Given the description of an element on the screen output the (x, y) to click on. 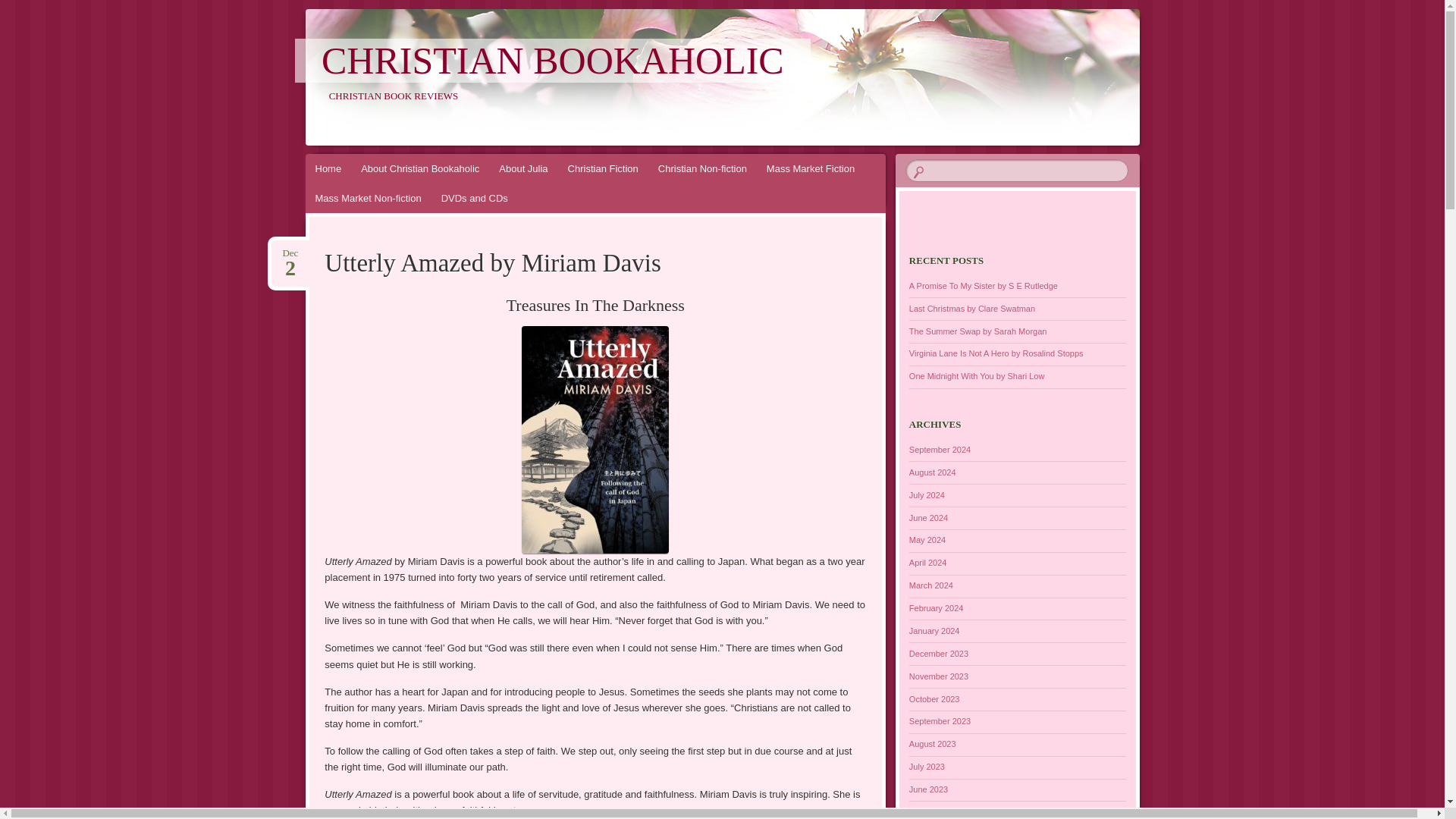
2nd December 2021 (289, 253)
The Summer Swap by Sarah Morgan (977, 330)
July 2024 (926, 494)
CHRISTIAN BOOKAHOLIC (552, 60)
Virginia Lane Is Not A Hero by Rosalind Stopps (995, 352)
Last Christmas by Clare Swatman (289, 253)
One Midnight With You by Shari Low (971, 307)
Mass Market Fiction (976, 375)
Search (810, 168)
